Given the description of an element on the screen output the (x, y) to click on. 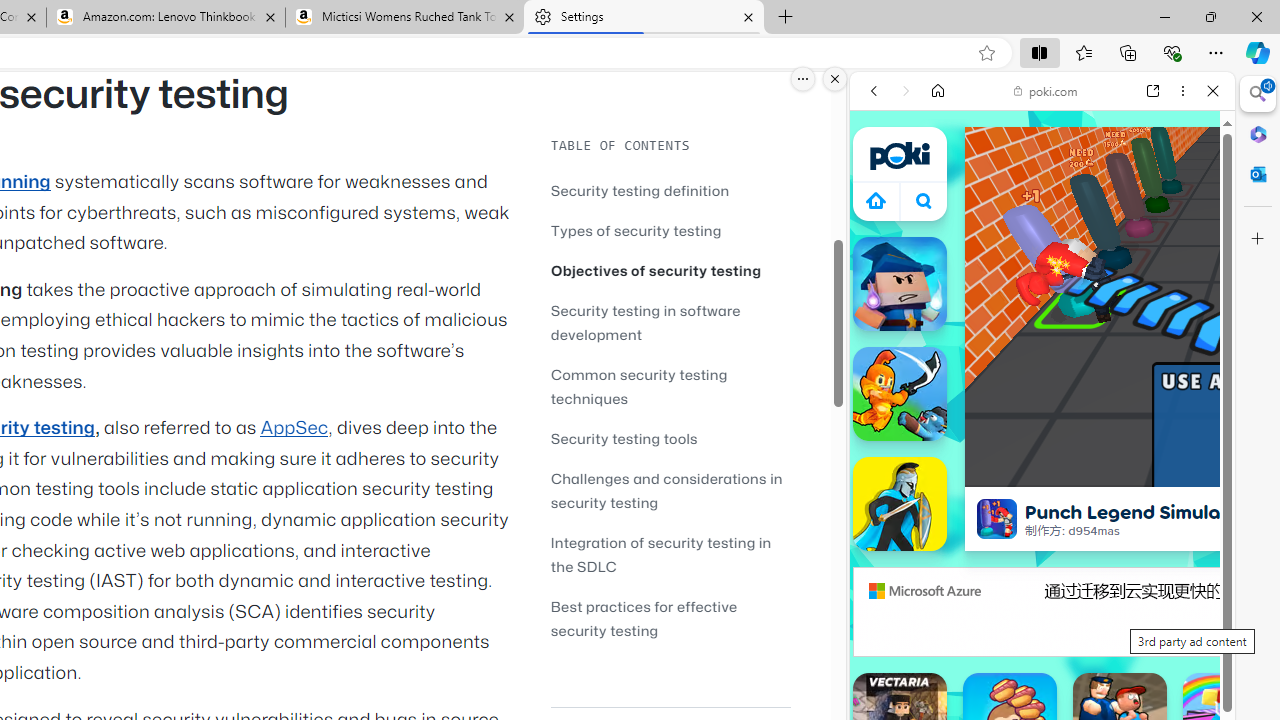
Shooting Games (1042, 518)
Poki - Free Online Games - Play Now! (1034, 309)
Car Games (1042, 470)
Objectives of security testing (670, 269)
Integration of security testing in the SDLC (670, 553)
Sports Games (1042, 666)
More options. (803, 79)
Security testing in software development (645, 321)
War of Sticks War of Sticks (899, 503)
